Given the description of an element on the screen output the (x, y) to click on. 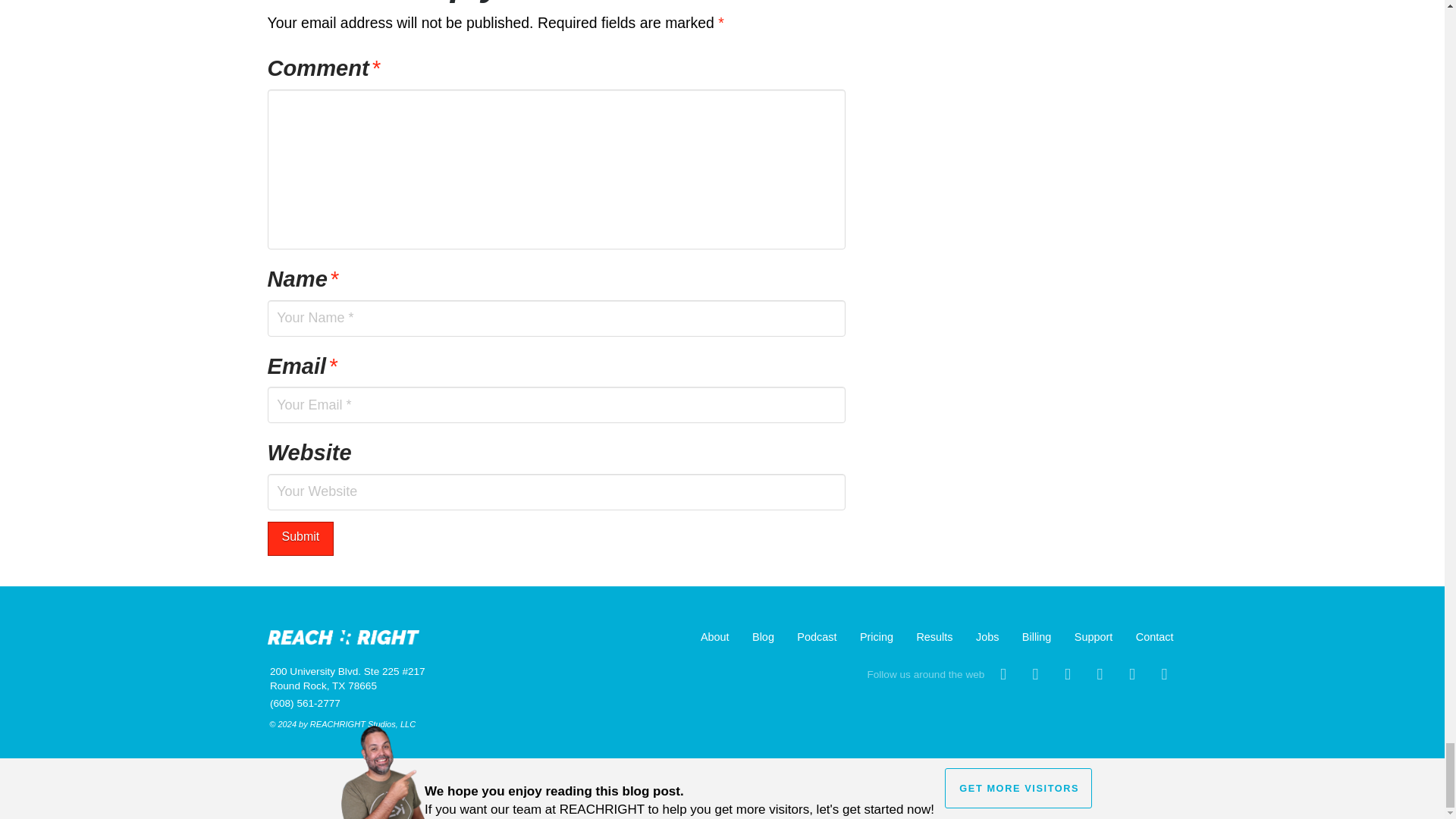
Submit (299, 538)
